Given the description of an element on the screen output the (x, y) to click on. 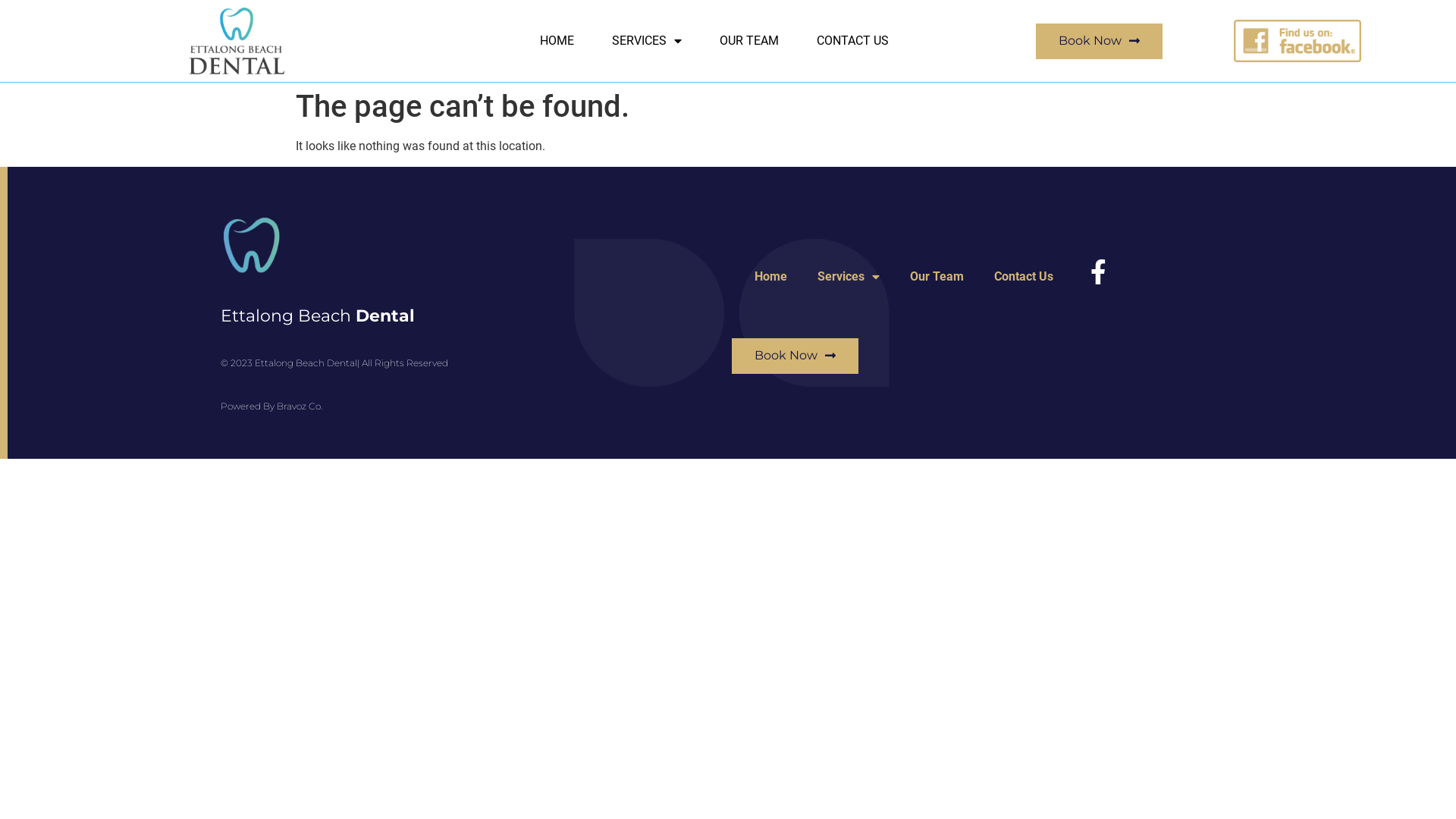
OUR TEAM Element type: text (748, 40)
Book Now Element type: text (1098, 40)
Ettalong Beach Dental Element type: text (317, 315)
Powered By Bravoz Co. Element type: text (271, 405)
Home Element type: text (770, 276)
CONTACT US Element type: text (852, 40)
Contact Us Element type: text (1023, 276)
Services Element type: text (848, 276)
HOME Element type: text (556, 40)
SERVICES Element type: text (646, 40)
Book Now Element type: text (794, 355)
Our Team Element type: text (936, 276)
